Given the description of an element on the screen output the (x, y) to click on. 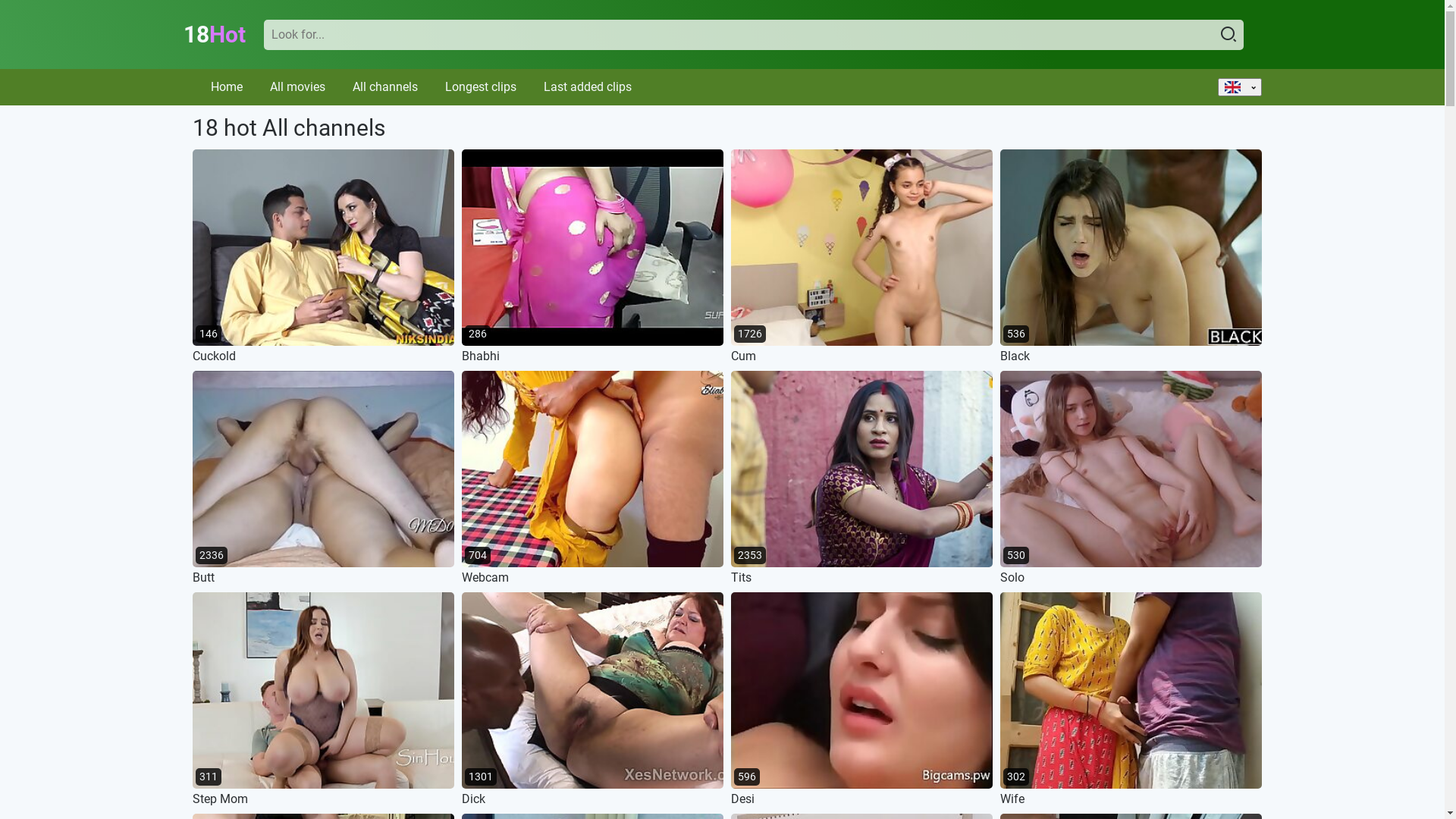
536
Black Element type: text (1130, 256)
311
Step Mom Element type: text (323, 699)
1726
Cum Element type: text (861, 256)
146
Cuckold Element type: text (323, 256)
Only latin letters, please Element type: hover (753, 34)
All movies Element type: text (297, 86)
18Hot Element type: text (214, 34)
1301
Dick Element type: text (591, 699)
Longest clips Element type: text (479, 86)
Look for Element type: hover (1228, 34)
530
Solo Element type: text (1130, 477)
Last added clips Element type: text (586, 86)
Home Element type: text (226, 86)
704
Webcam Element type: text (591, 477)
All channels Element type: text (384, 86)
2336
Butt Element type: text (323, 477)
2353
Tits Element type: text (861, 477)
596
Desi Element type: text (861, 699)
302
Wife Element type: text (1130, 699)
286
Bhabhi Element type: text (591, 256)
